Given the description of an element on the screen output the (x, y) to click on. 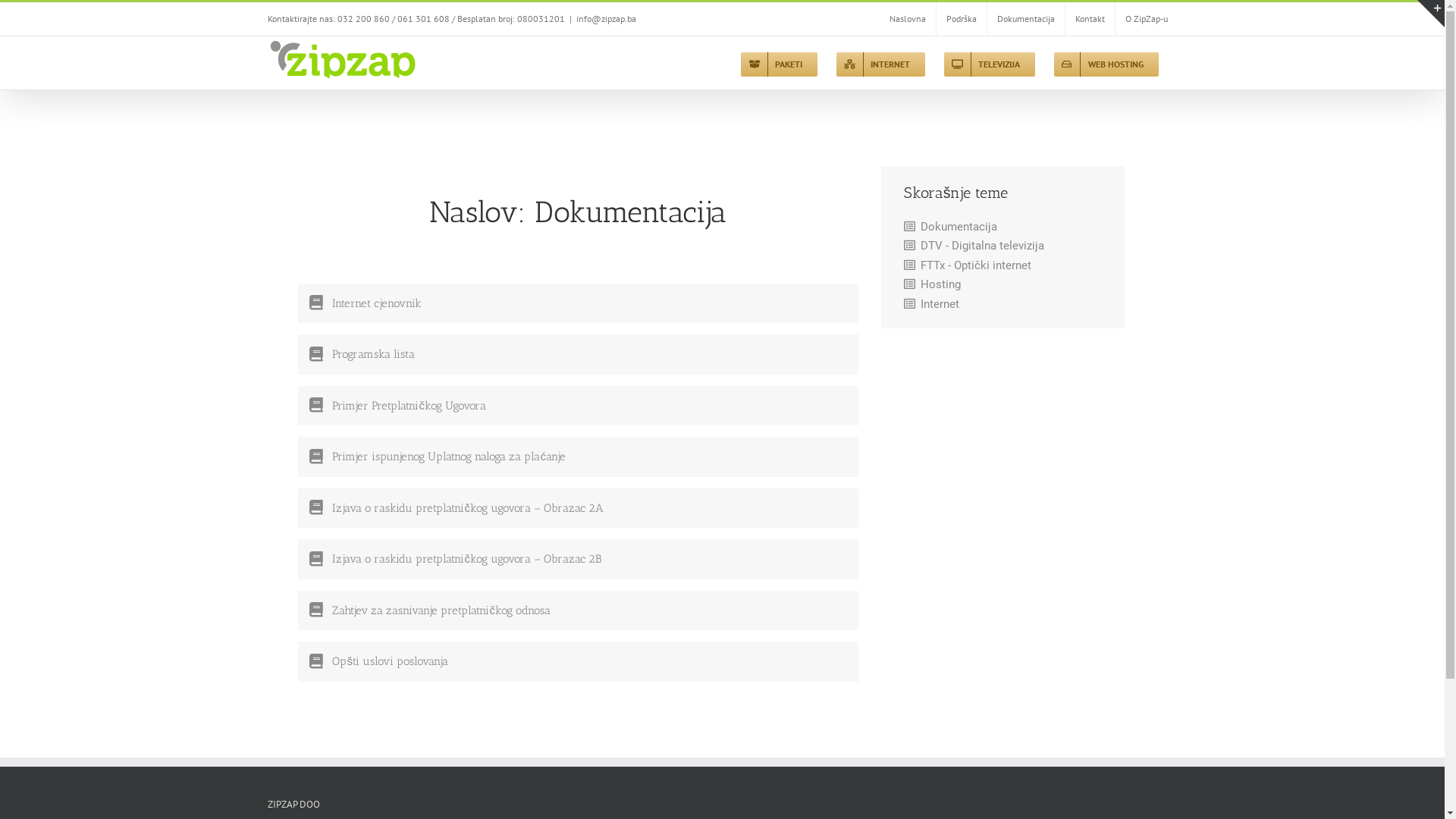
Hosting Element type: text (940, 284)
INTERNET Element type: text (879, 62)
Toggle Sliding Bar Area Element type: text (1430, 13)
TELEVIZIJA Element type: text (988, 62)
Dokumentacija Element type: text (958, 226)
Dokumentacija Element type: text (1025, 18)
DTV - Digitalna televizija Element type: text (982, 245)
Kontakt Element type: text (1088, 18)
Programska lista Element type: text (373, 353)
PAKETI Element type: text (778, 62)
O ZipZap-u Element type: text (1145, 18)
Internet cjenovnik Element type: text (376, 303)
Internet Element type: text (939, 304)
WEB HOSTING Element type: text (1106, 62)
info@zipzap.ba Element type: text (606, 18)
Naslovna Element type: text (907, 18)
